Given the description of an element on the screen output the (x, y) to click on. 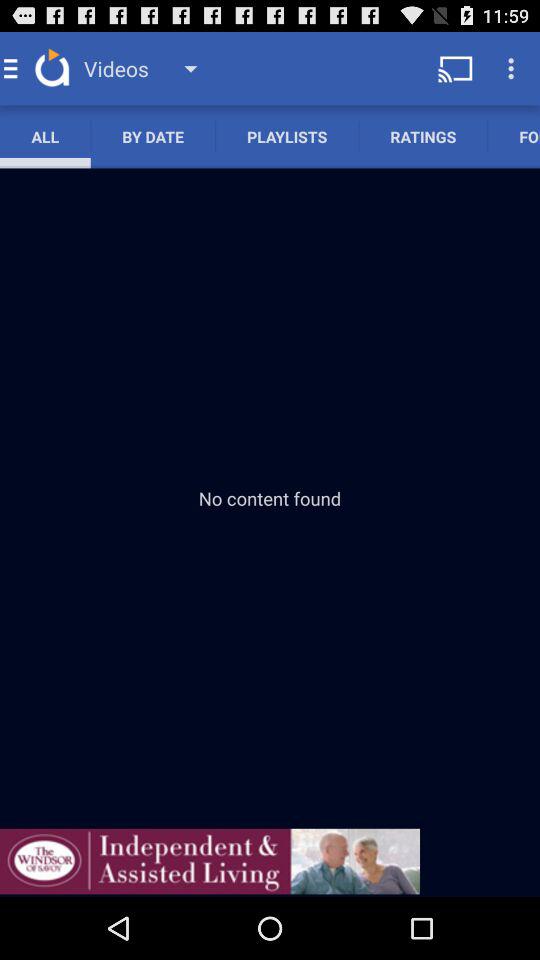
open advertisement (210, 861)
